Given the description of an element on the screen output the (x, y) to click on. 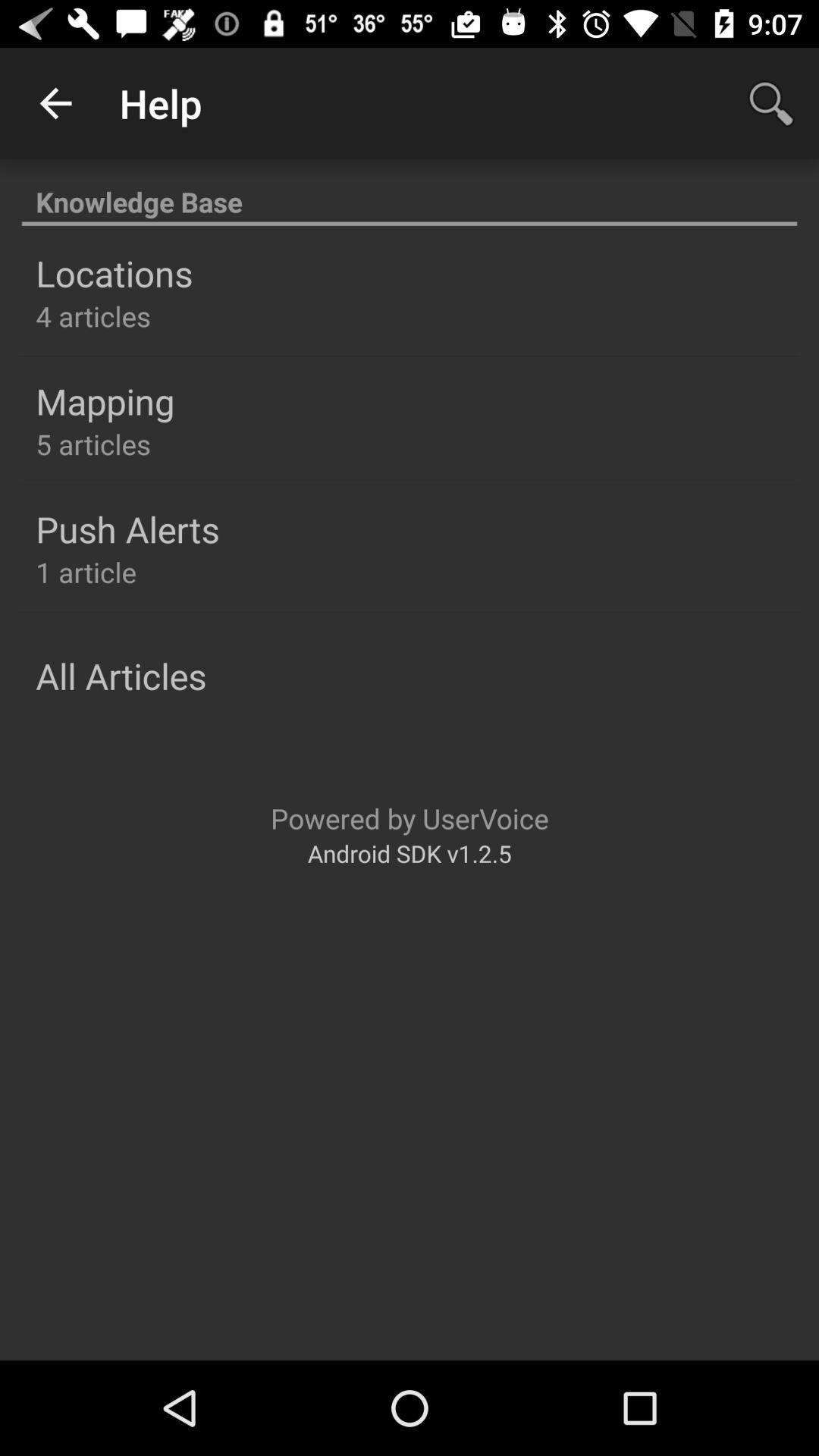
click locations (113, 273)
